Given the description of an element on the screen output the (x, y) to click on. 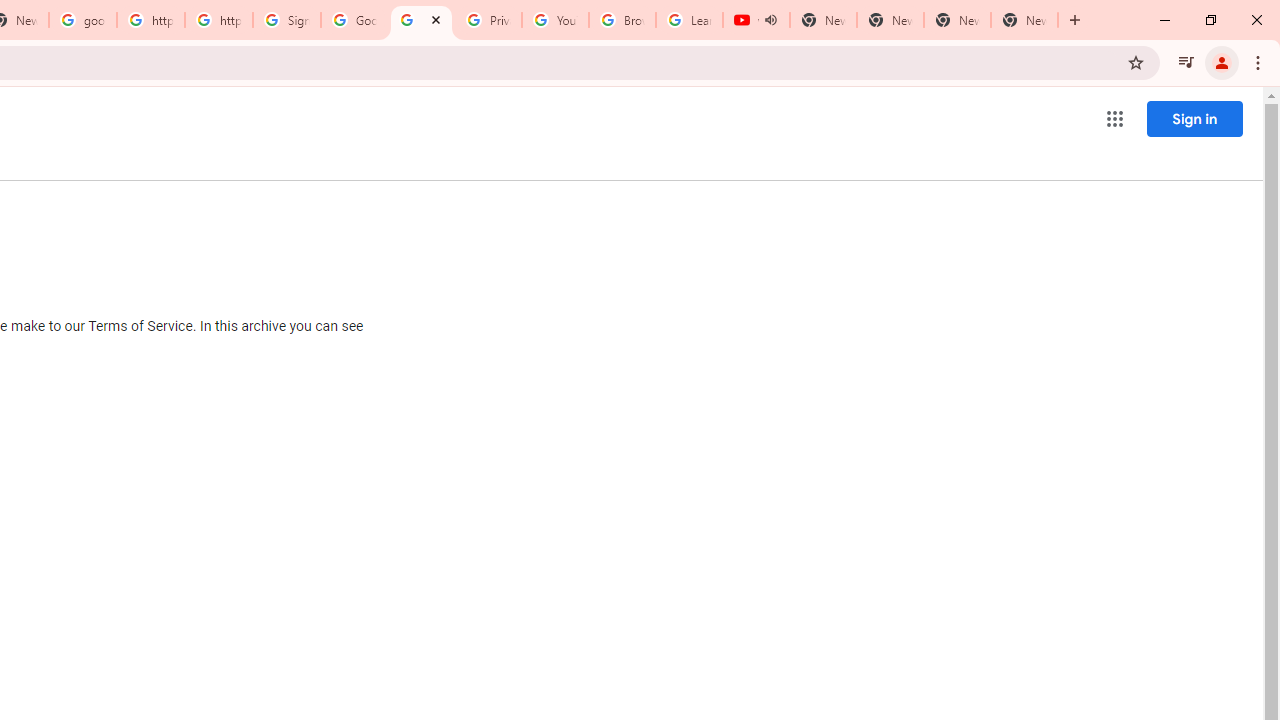
https://scholar.google.com/ (150, 20)
Sign in - Google Accounts (287, 20)
